Given the description of an element on the screen output the (x, y) to click on. 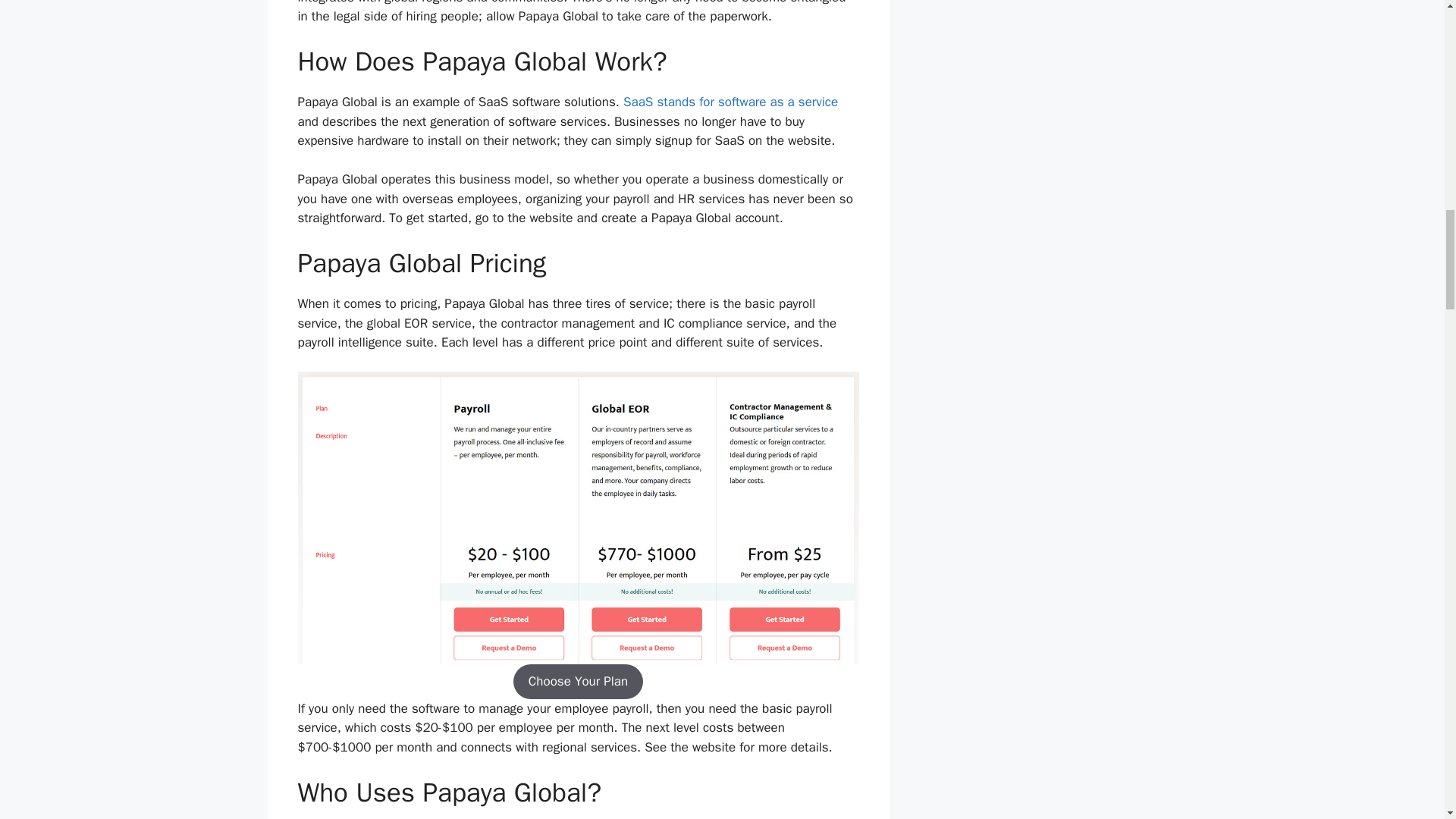
SaaS stands for software as a service (730, 101)
Choose Your Plan (578, 681)
